Given the description of an element on the screen output the (x, y) to click on. 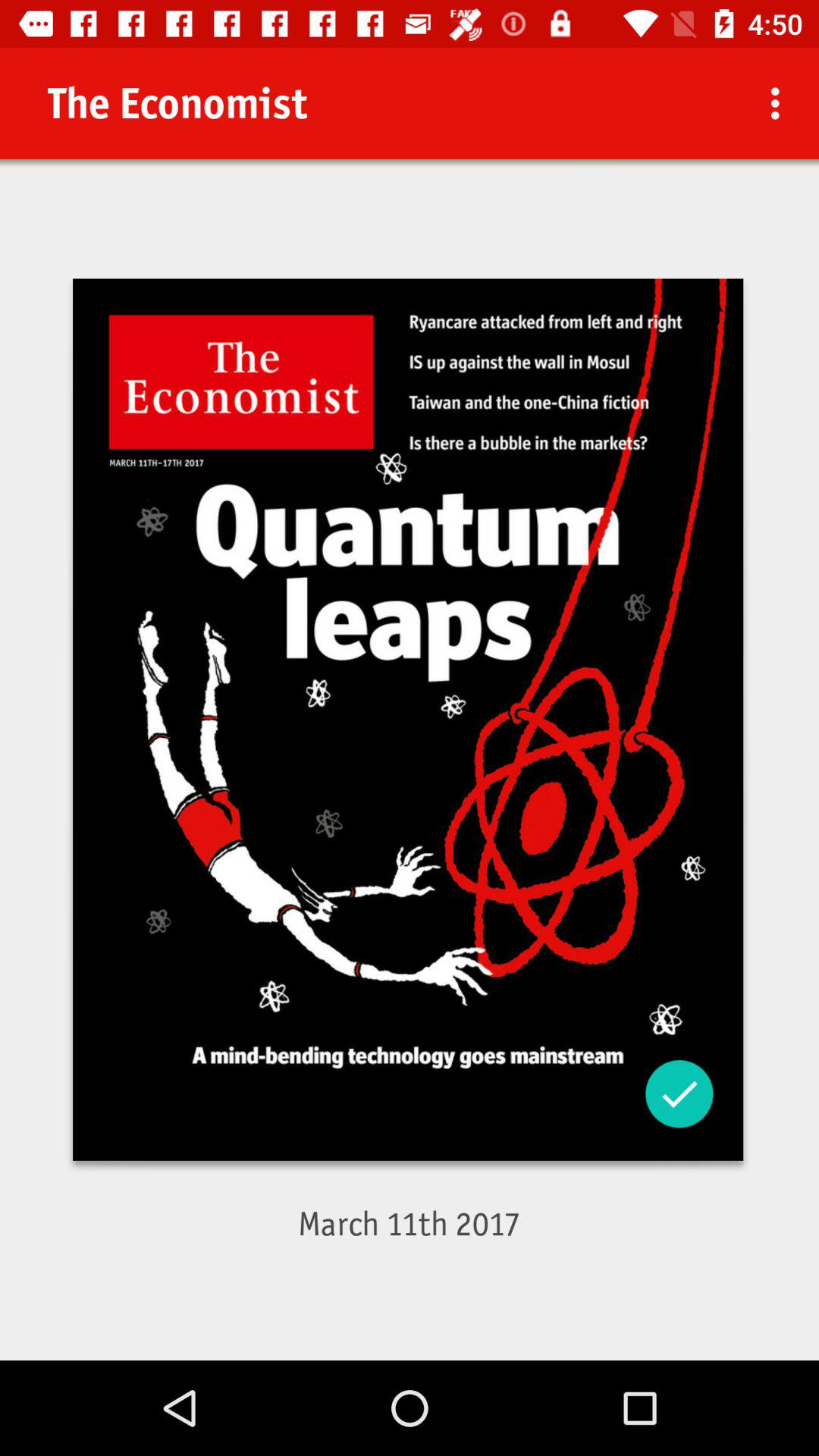
turn on the icon at the top right corner (779, 103)
